Given the description of an element on the screen output the (x, y) to click on. 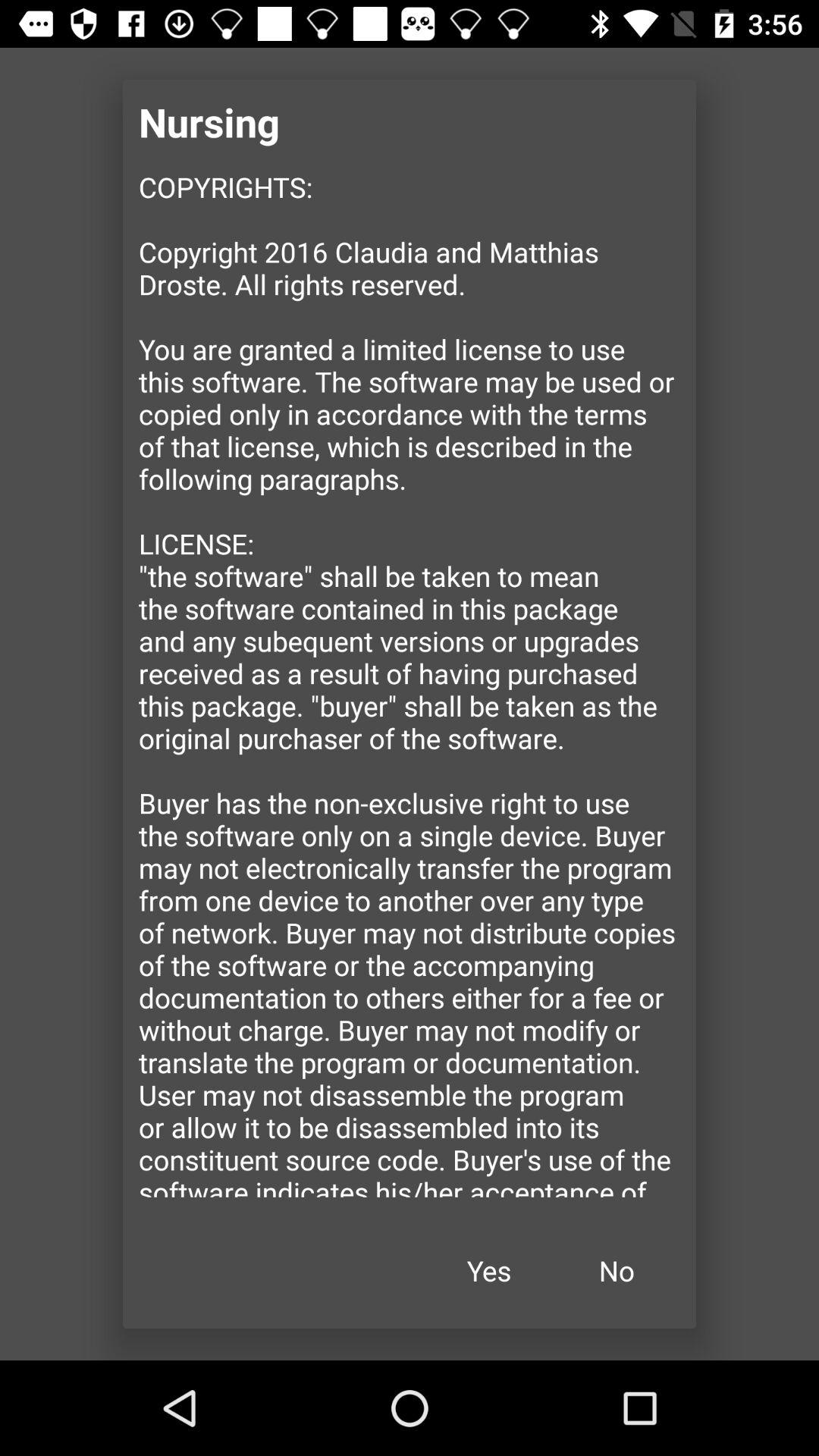
flip until the yes item (488, 1270)
